Given the description of an element on the screen output the (x, y) to click on. 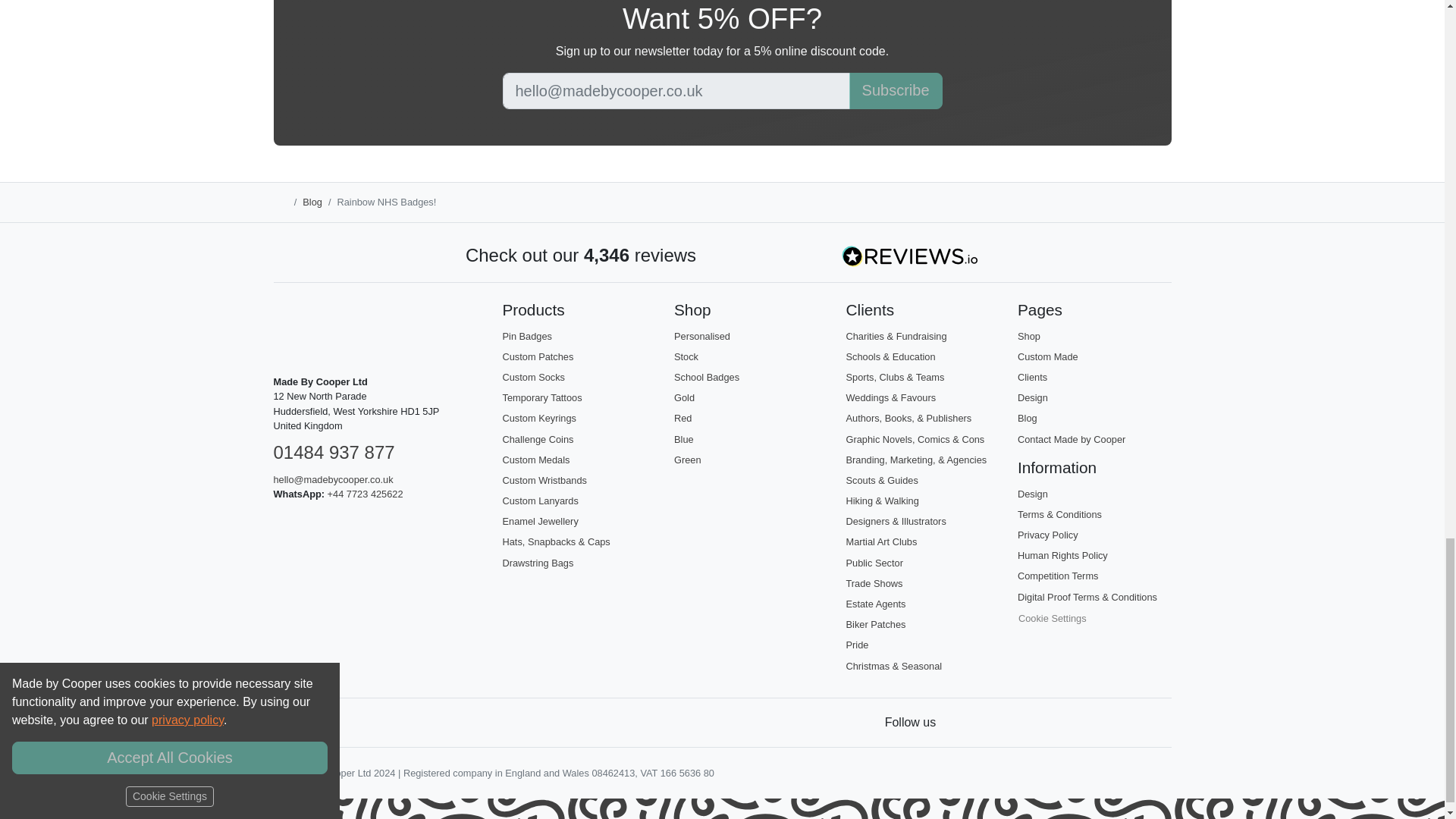
Made By Cooper Logo (303, 331)
American Express Icon (386, 722)
Paypal Icon (419, 722)
Home (279, 202)
Visa Icon (319, 722)
Blog (311, 202)
Pin Badges (526, 336)
Home (279, 202)
Mastercard Icon (352, 722)
Stripe Payments Icon (285, 722)
